Given the description of an element on the screen output the (x, y) to click on. 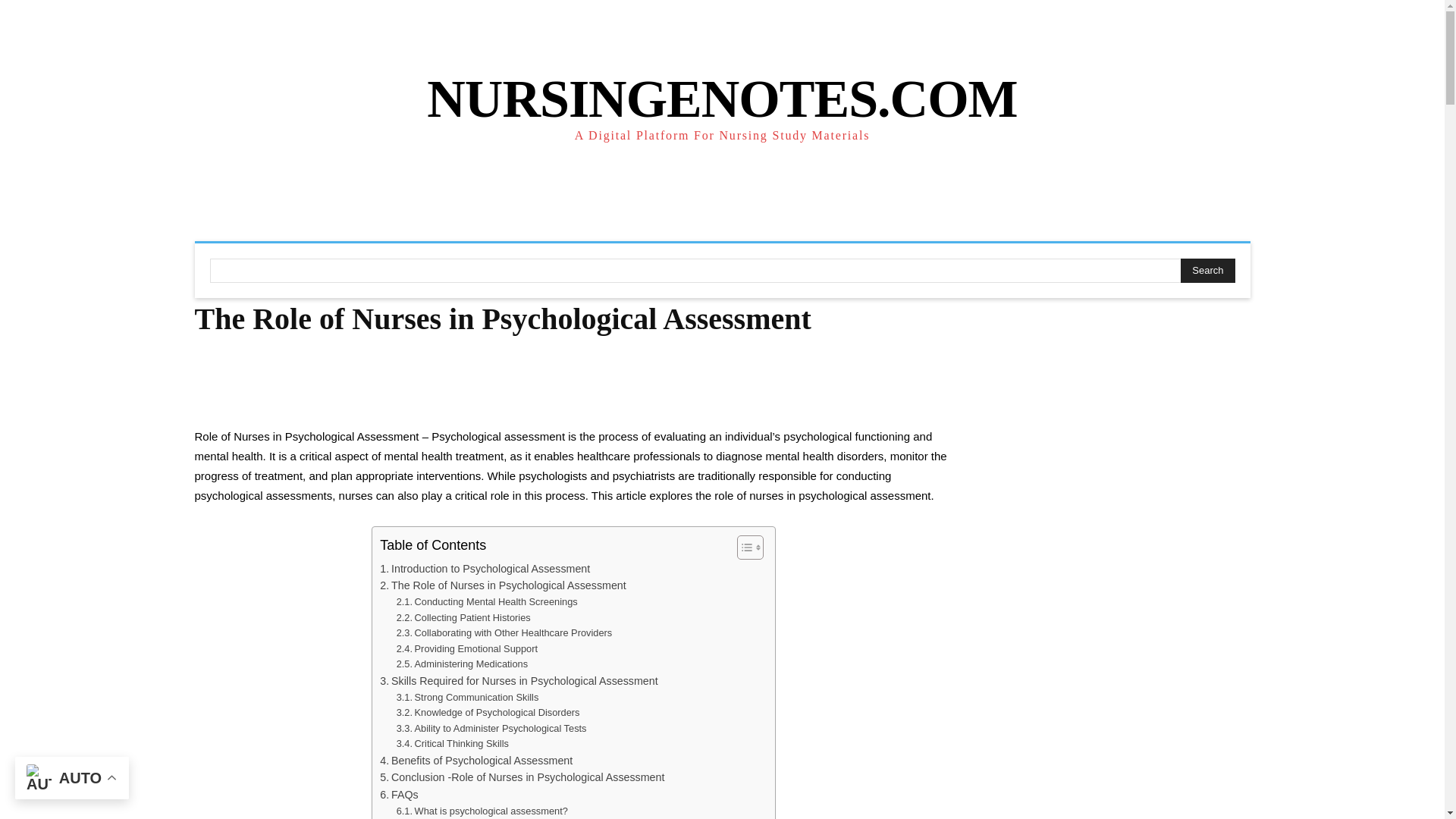
Search (1207, 270)
Introduction to Psychological Assessment (484, 569)
Search (1207, 270)
Administering Medications (461, 664)
The Role of Nurses in Psychological Assessment (503, 585)
Conducting Mental Health Screenings (487, 602)
Introduction to Psychological Assessment (484, 569)
Collecting Patient Histories (463, 618)
Collaborating with Other Healthcare Providers (504, 633)
Providing Emotional Support (466, 649)
Skills Required for Nurses in Psychological Assessment (519, 681)
The Role of Nurses in Psychological Assessment (503, 585)
